Given the description of an element on the screen output the (x, y) to click on. 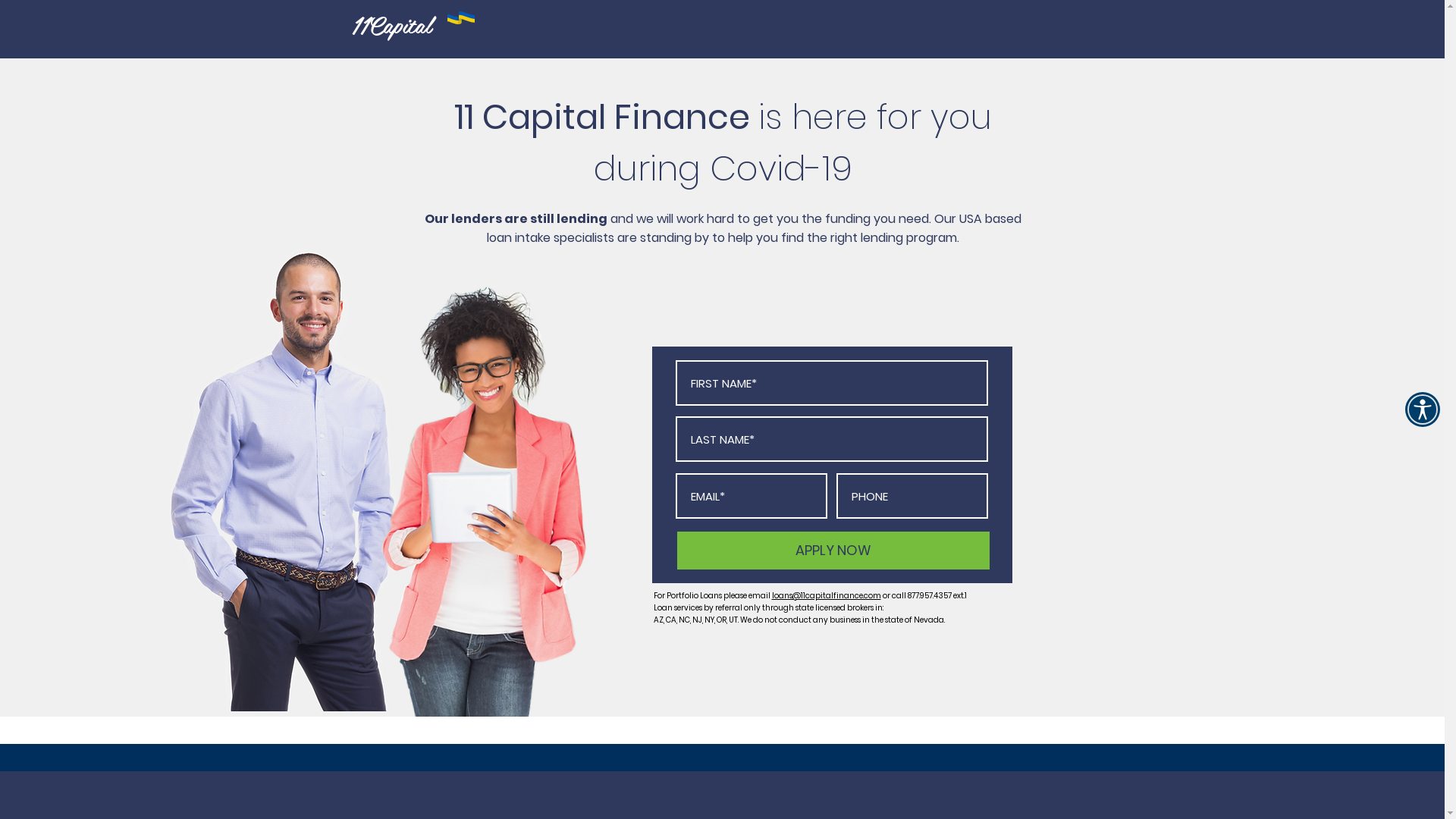
loans@11capitalfinance.com Element type: text (826, 595)
APPLY NOW Element type: text (832, 550)
